Given the description of an element on the screen output the (x, y) to click on. 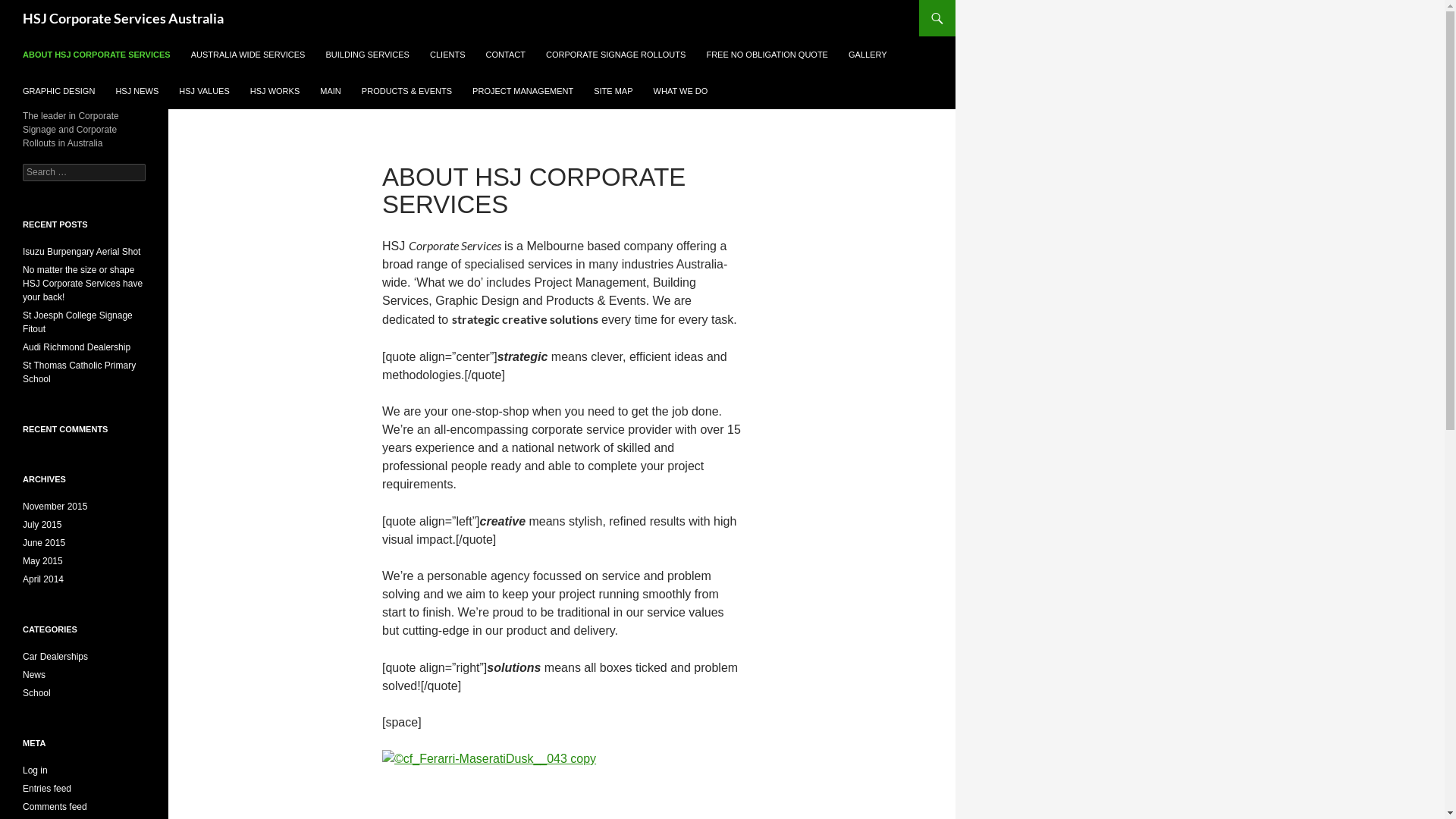
Entries feed Element type: text (46, 788)
CONTACT Element type: text (505, 54)
BUILDING SERVICES Element type: text (367, 54)
November 2015 Element type: text (54, 506)
MAIN Element type: text (330, 90)
Audi Richmond Dealership Element type: text (76, 347)
PROJECT MANAGEMENT Element type: text (522, 90)
GALLERY Element type: text (867, 54)
GRAPHIC DESIGN Element type: text (58, 90)
PRODUCTS & EVENTS Element type: text (406, 90)
HSJ VALUES Element type: text (203, 90)
School Element type: text (36, 692)
July 2015 Element type: text (41, 524)
April 2014 Element type: text (42, 579)
May 2015 Element type: text (42, 560)
Car Dealerships Element type: text (54, 656)
FREE NO OBLIGATION QUOTE Element type: text (766, 54)
June 2015 Element type: text (43, 542)
HSJ WORKS Element type: text (274, 90)
AUSTRALIA WIDE SERVICES Element type: text (248, 54)
SITE MAP Element type: text (612, 90)
HSJ NEWS Element type: text (136, 90)
SKIP TO CONTENT Element type: text (21, 35)
Search Element type: text (29, 9)
ABOUT HSJ CORPORATE SERVICES Element type: text (96, 54)
Log in Element type: text (34, 770)
CLIENTS Element type: text (446, 54)
St Thomas Catholic Primary School Element type: text (78, 372)
News Element type: text (33, 674)
Comments feed Element type: text (54, 806)
HSJ Corporate Services Australia Element type: text (122, 18)
Isuzu Burpengary Aerial Shot Element type: text (81, 251)
CORPORATE SIGNAGE ROLLOUTS Element type: text (615, 54)
WHAT WE DO Element type: text (680, 90)
St Joesph College Signage Fitout Element type: text (77, 322)
